Given the description of an element on the screen output the (x, y) to click on. 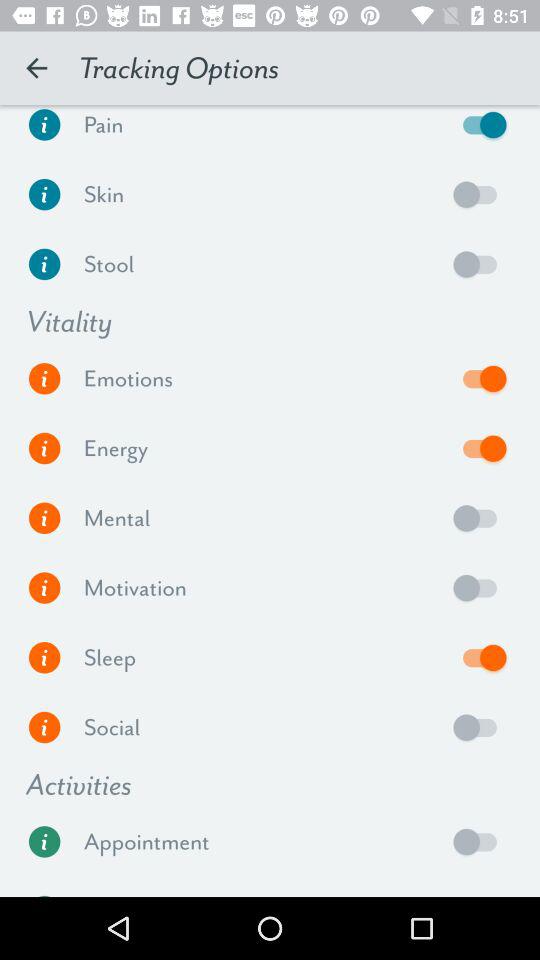
toggles appointment tracking (479, 841)
